Given the description of an element on the screen output the (x, y) to click on. 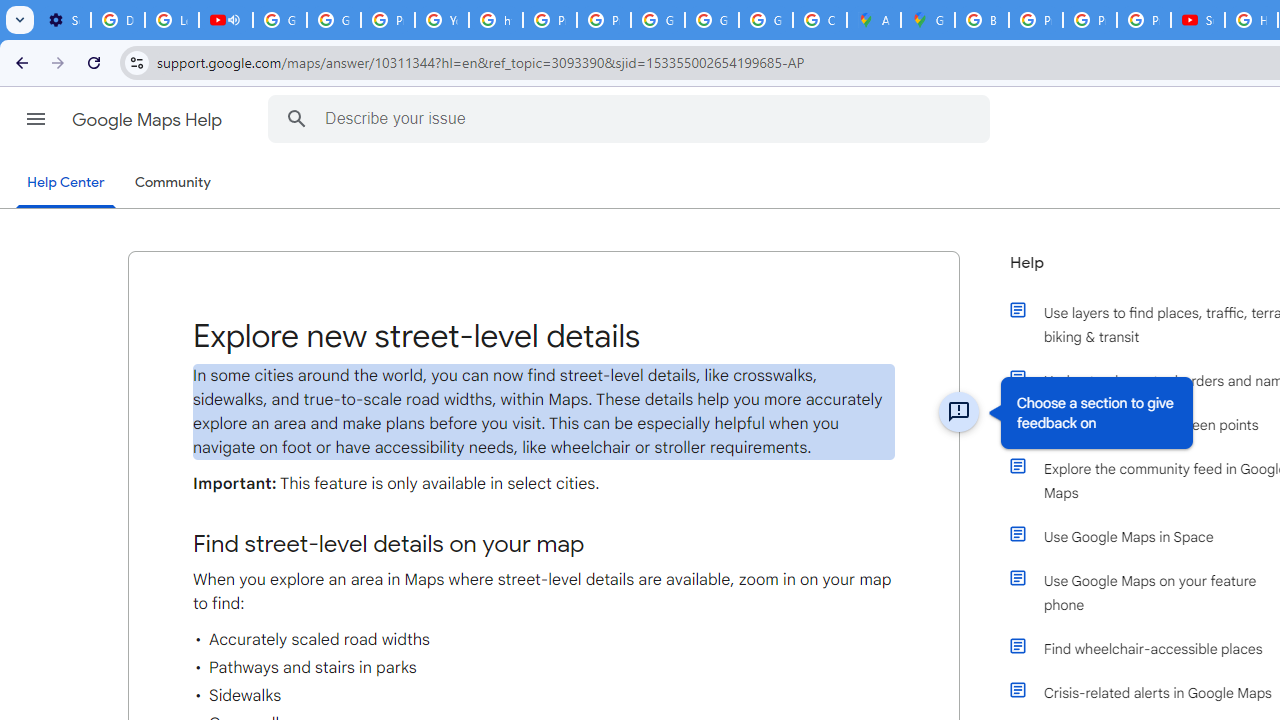
Privacy Help Center - Policies Help (550, 20)
Google Maps (927, 20)
Learn how to find your photos - Google Photos Help (171, 20)
Pathways and stairs in parks (543, 667)
Describe your issue (632, 118)
Privacy Help Center - Policies Help (387, 20)
Create your Google Account (819, 20)
Google Account Help (280, 20)
